Given the description of an element on the screen output the (x, y) to click on. 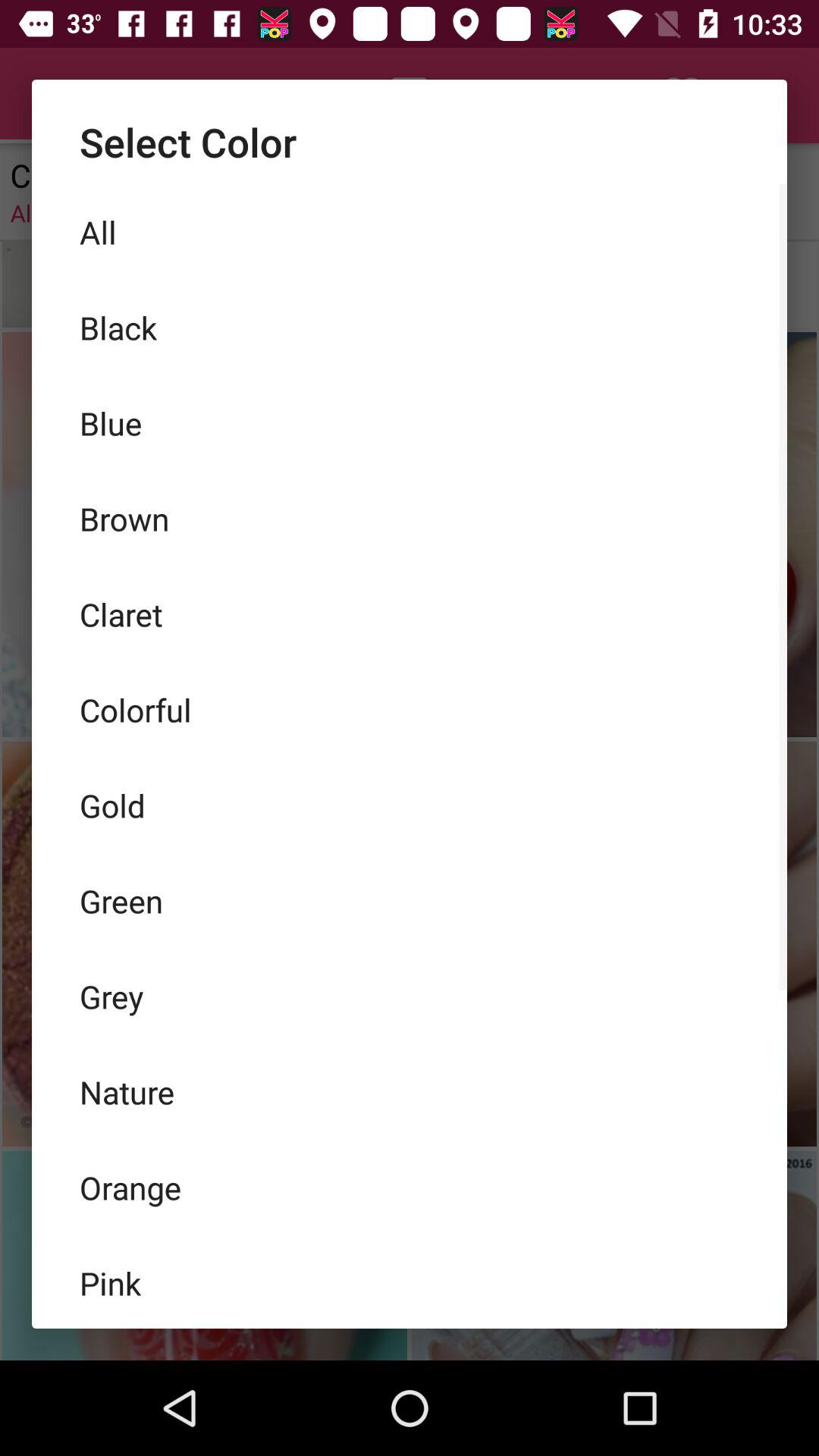
turn off icon above black icon (409, 231)
